Given the description of an element on the screen output the (x, y) to click on. 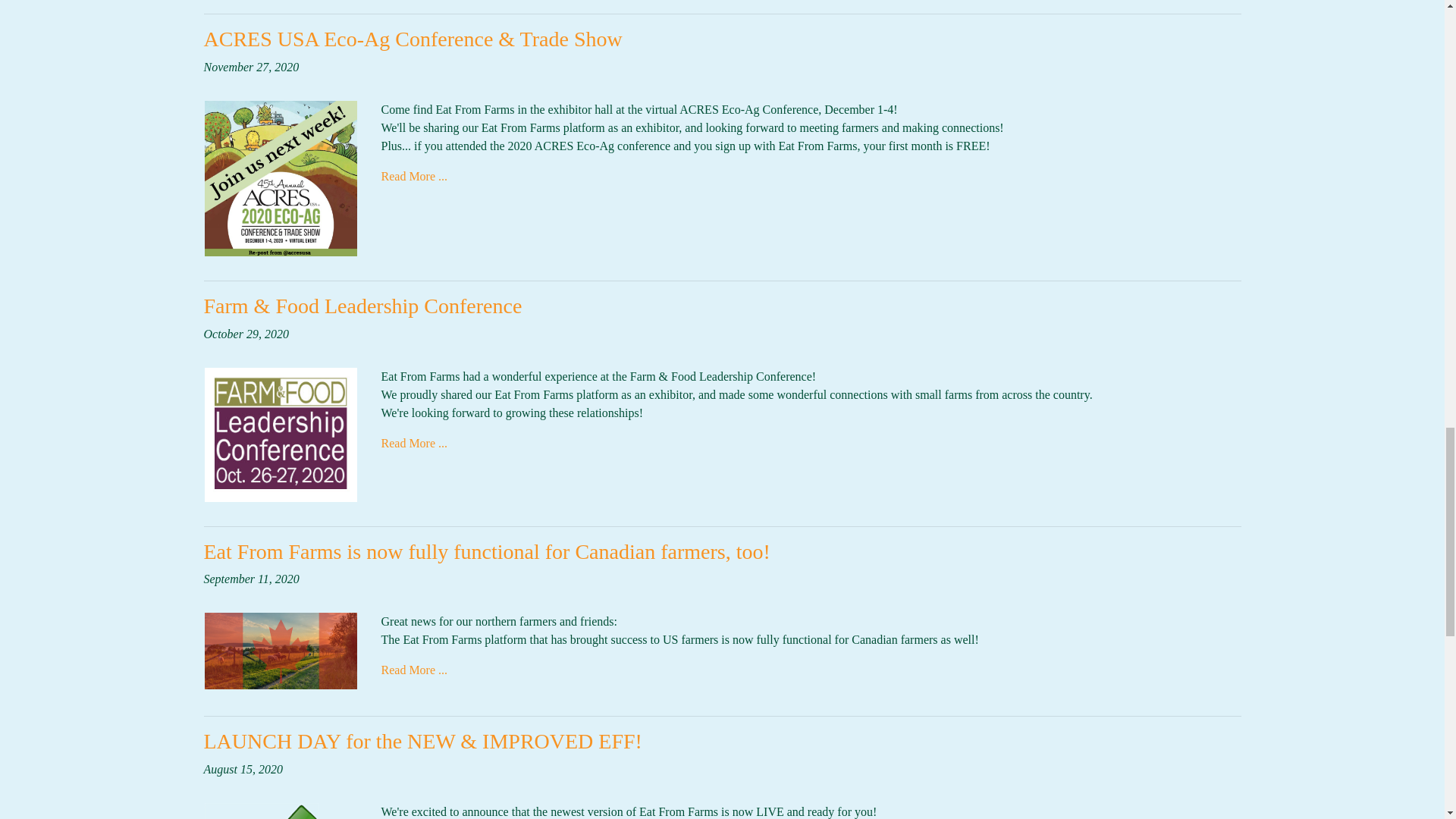
Read More ... (413, 669)
Read More ... (413, 175)
Read More ... (413, 442)
